Given the description of an element on the screen output the (x, y) to click on. 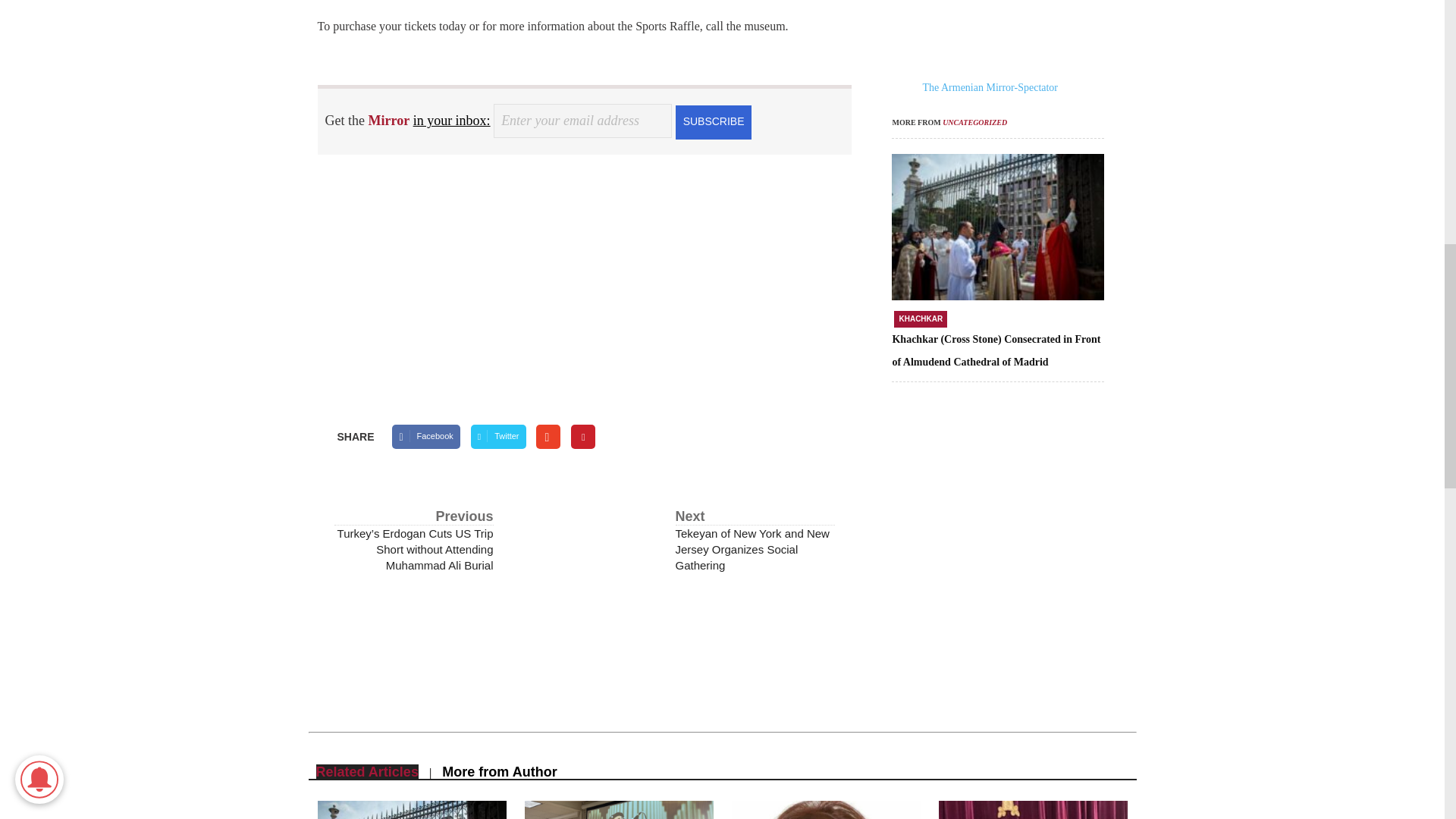
SUBSCRIBE (713, 121)
In Memoriam: Assembly Regional Director Arpi Vartanian (825, 809)
